Given the description of an element on the screen output the (x, y) to click on. 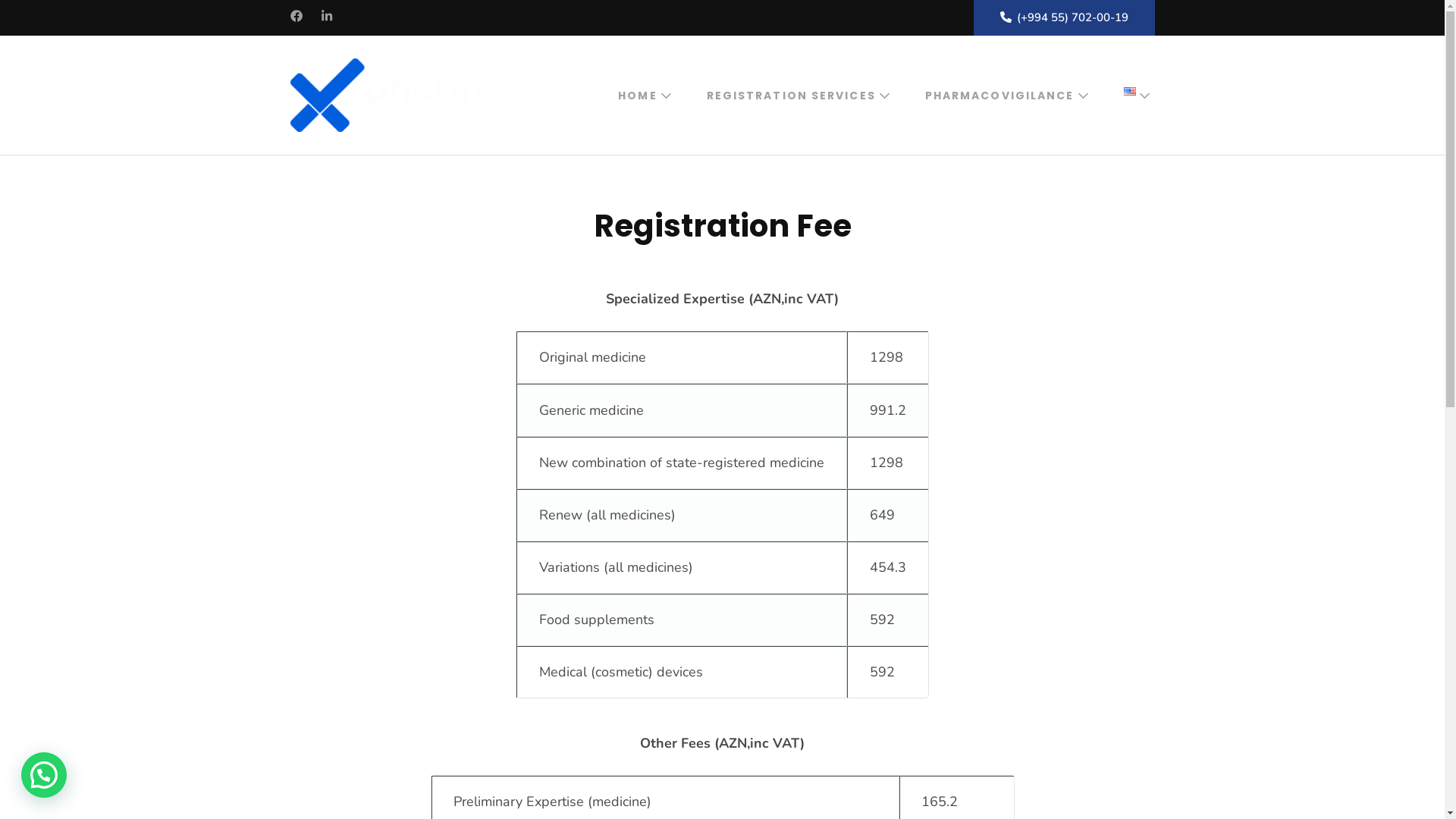
(+994 55) 702-00-19 Element type: text (1063, 17)
HOME Element type: text (637, 95)
REGISTRATION SERVICES Element type: text (790, 95)
PHARMACOVIGILANCE Element type: text (999, 95)
